Given the description of an element on the screen output the (x, y) to click on. 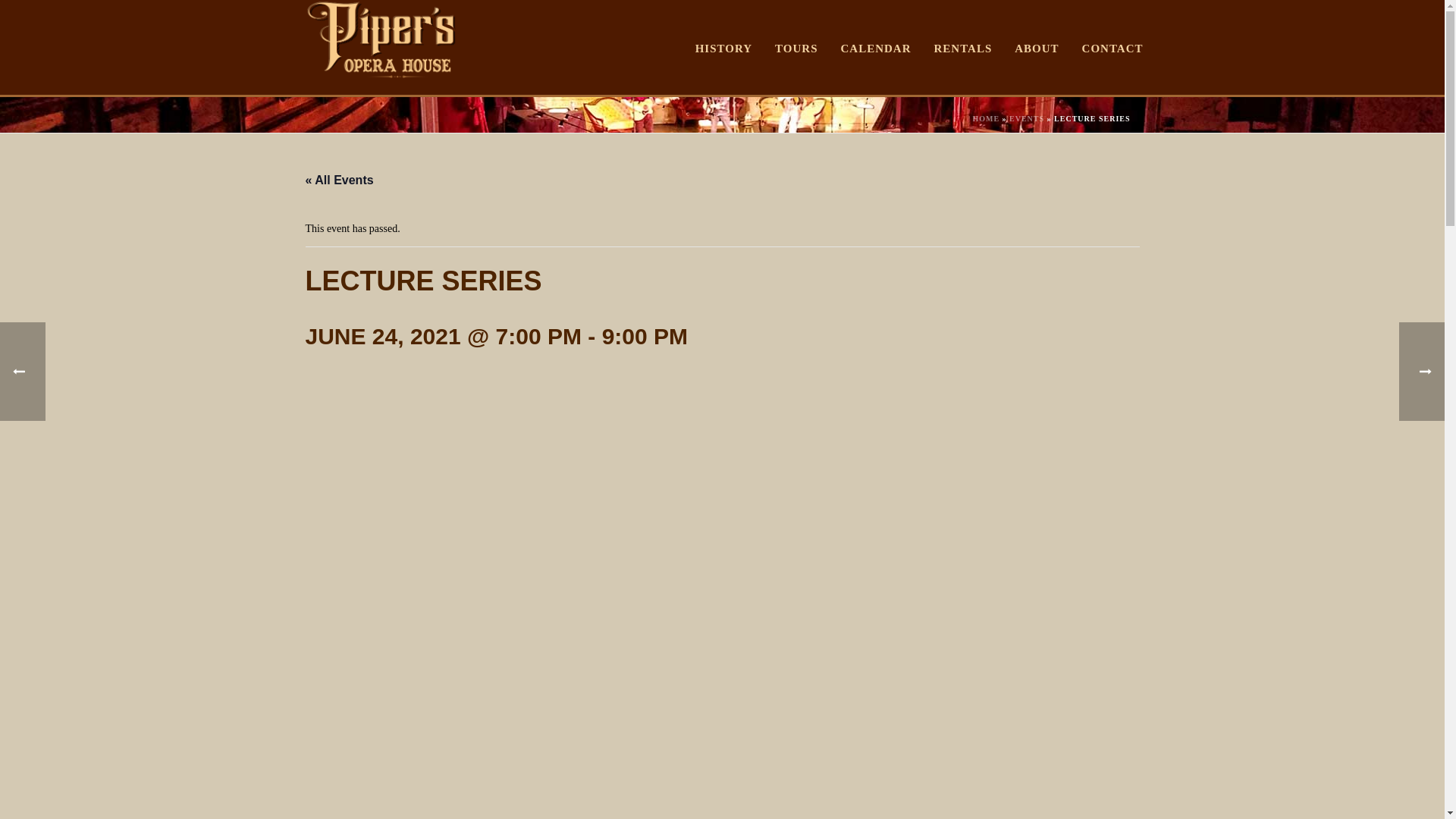
CALENDAR (874, 48)
CONTACT (1112, 48)
ABOUT (1036, 48)
RENTALS (962, 48)
CONTACT (1112, 48)
RENTALS (962, 48)
Virginia City Opera House (380, 39)
HOME (985, 118)
HISTORY (723, 48)
TOURS (795, 48)
ABOUT (1036, 48)
EVENTS (1026, 118)
TOURS (795, 48)
HISTORY (723, 48)
CALENDAR (874, 48)
